Given the description of an element on the screen output the (x, y) to click on. 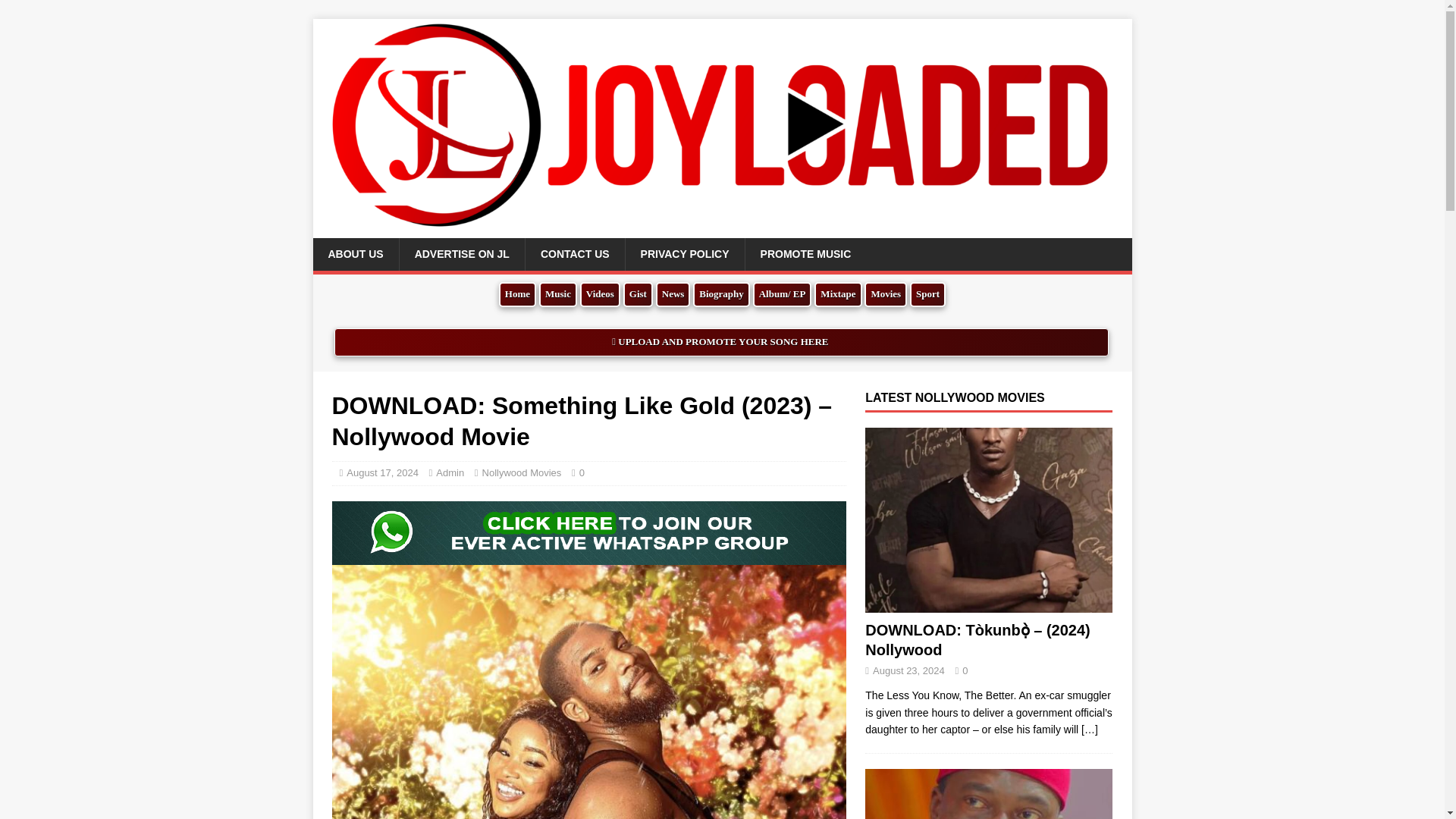
Videos (599, 294)
CONTACT US (574, 254)
ABOUT US (355, 254)
Nollywood Movies (521, 472)
LATEST NOLLYWOOD MOVIES (953, 397)
Music (557, 294)
Admin (449, 472)
Gist (637, 294)
Home (517, 294)
UPLOAD AND PROMOTE YOUR SONG HERE  (721, 342)
